Given the description of an element on the screen output the (x, y) to click on. 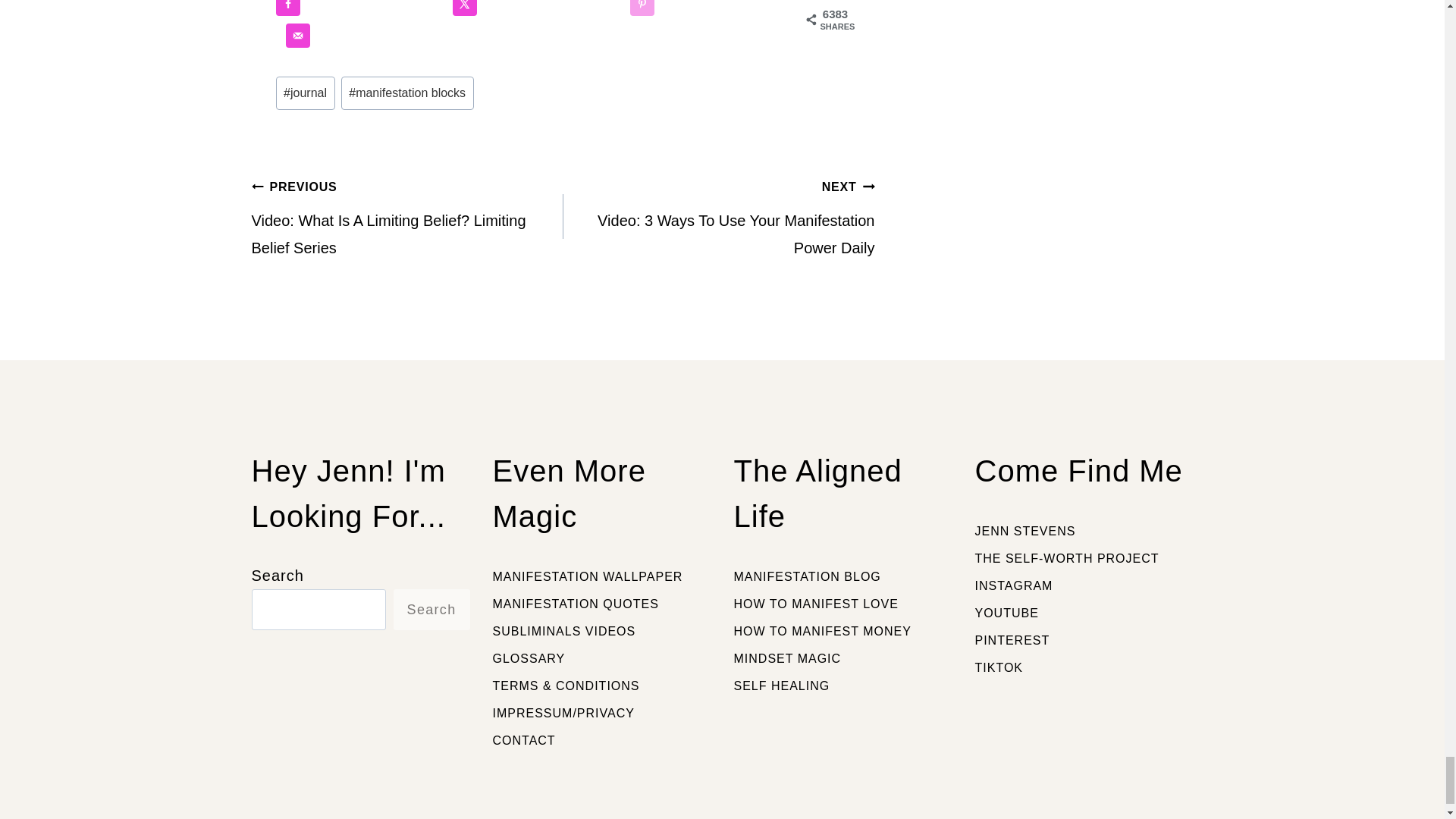
journal (305, 92)
Send over email (297, 35)
Share on Facebook (287, 7)
manifestation blocks (407, 92)
Save to Pinterest (641, 7)
Share on X (464, 7)
